Given the description of an element on the screen output the (x, y) to click on. 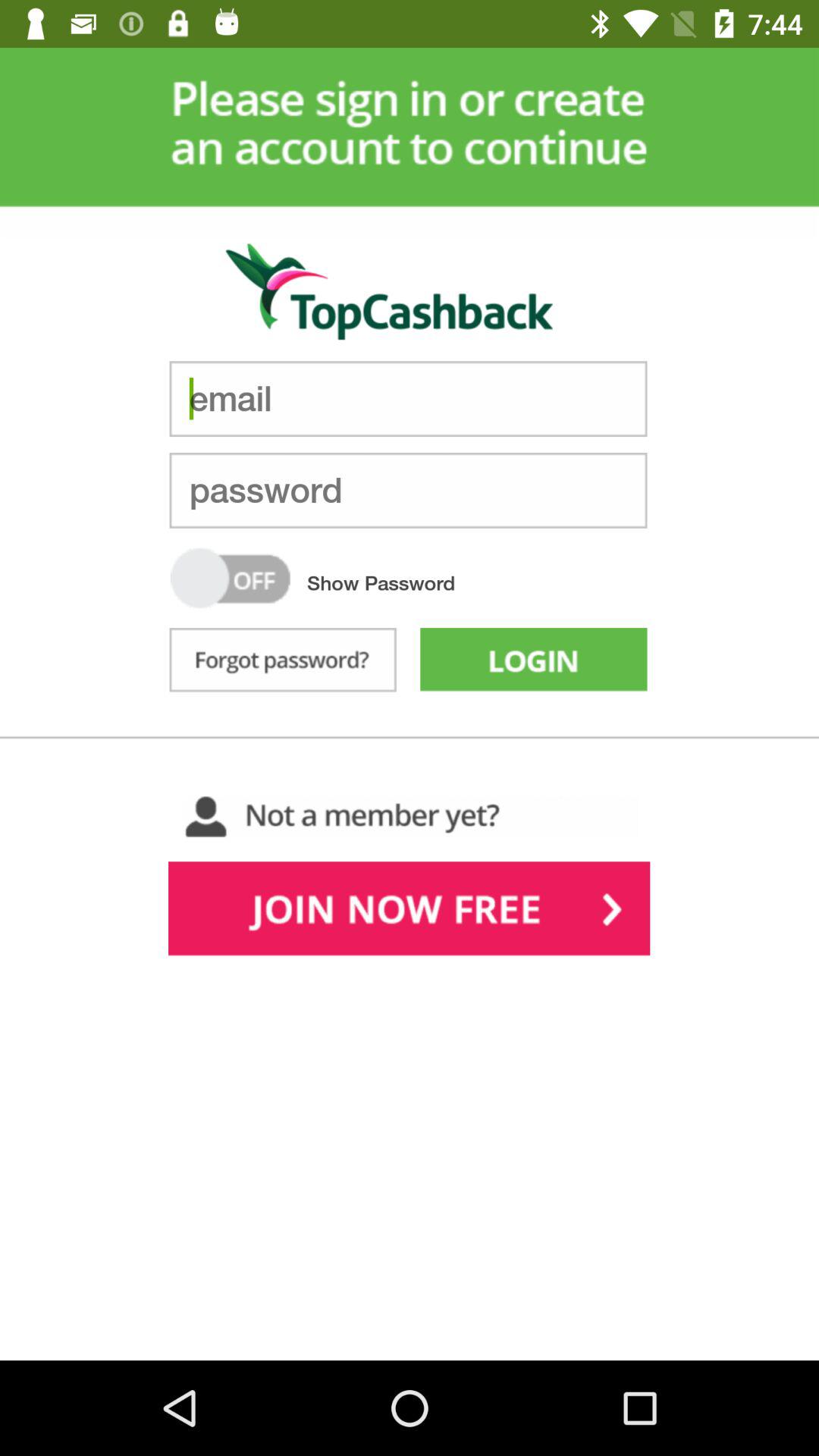
forget password (282, 662)
